Given the description of an element on the screen output the (x, y) to click on. 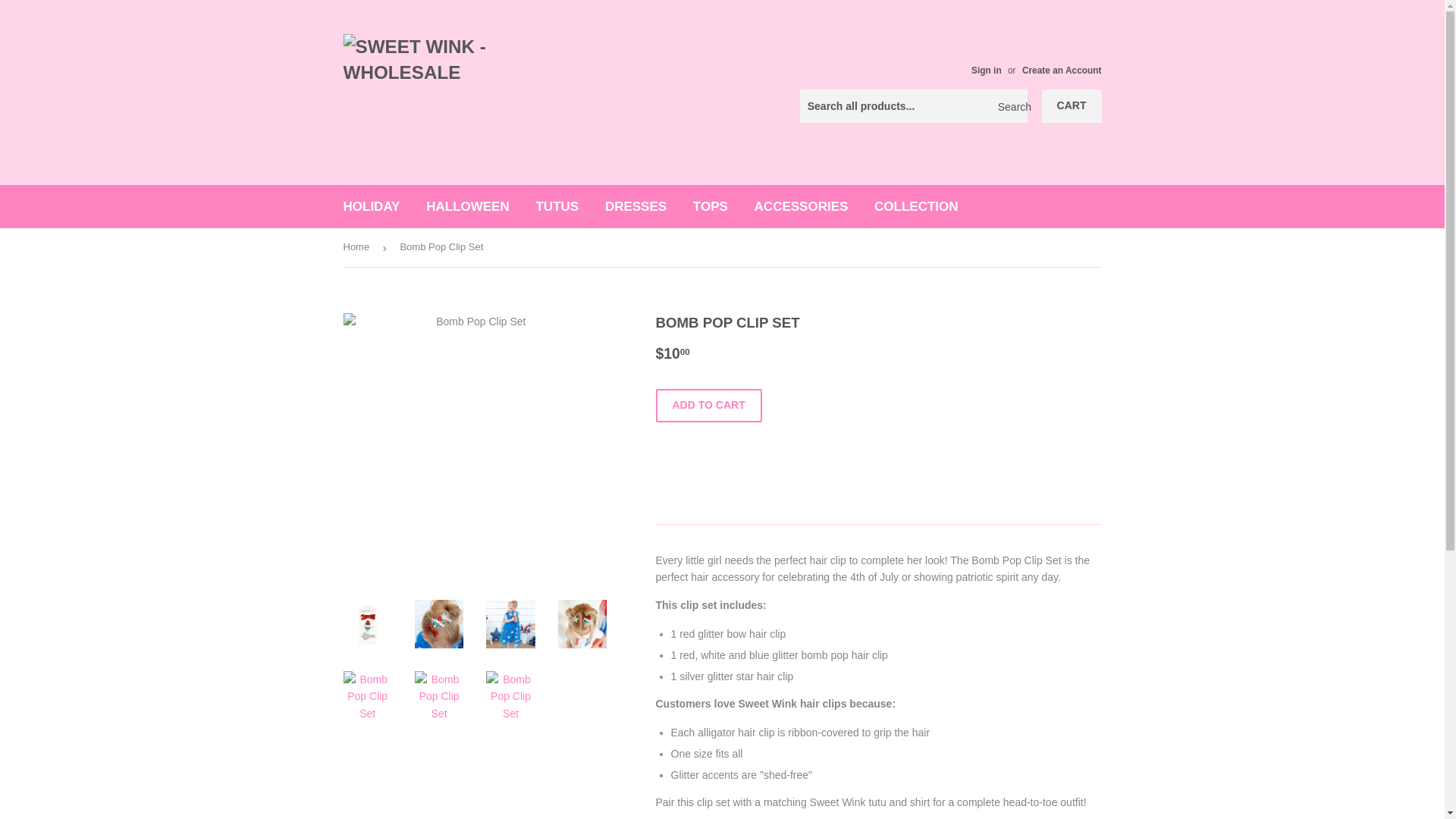
Create an Account (1062, 70)
Search (1009, 106)
CART (1072, 105)
Sign in (986, 70)
